Given the description of an element on the screen output the (x, y) to click on. 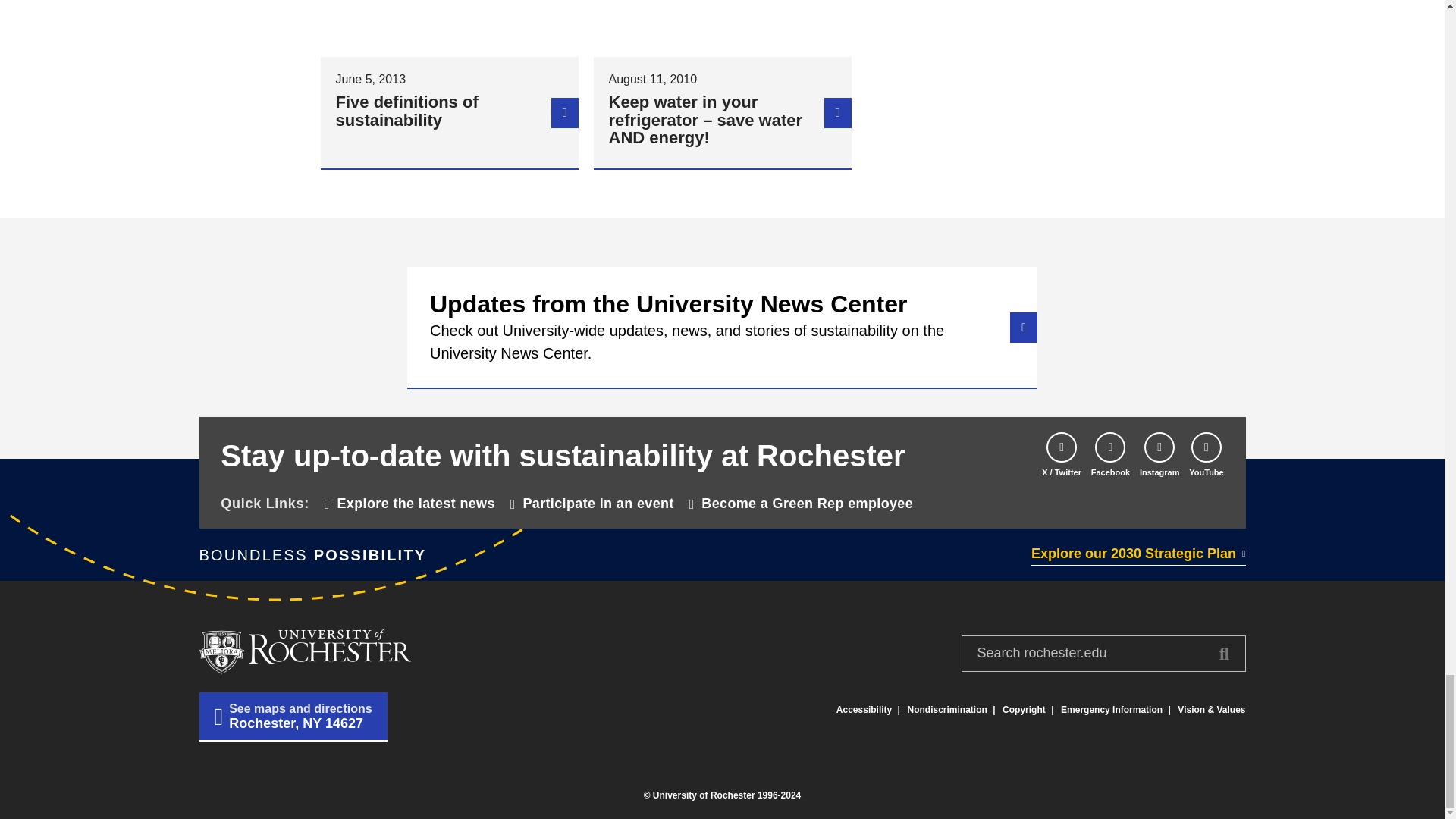
University of Rochester Homepage (304, 651)
